Given the description of an element on the screen output the (x, y) to click on. 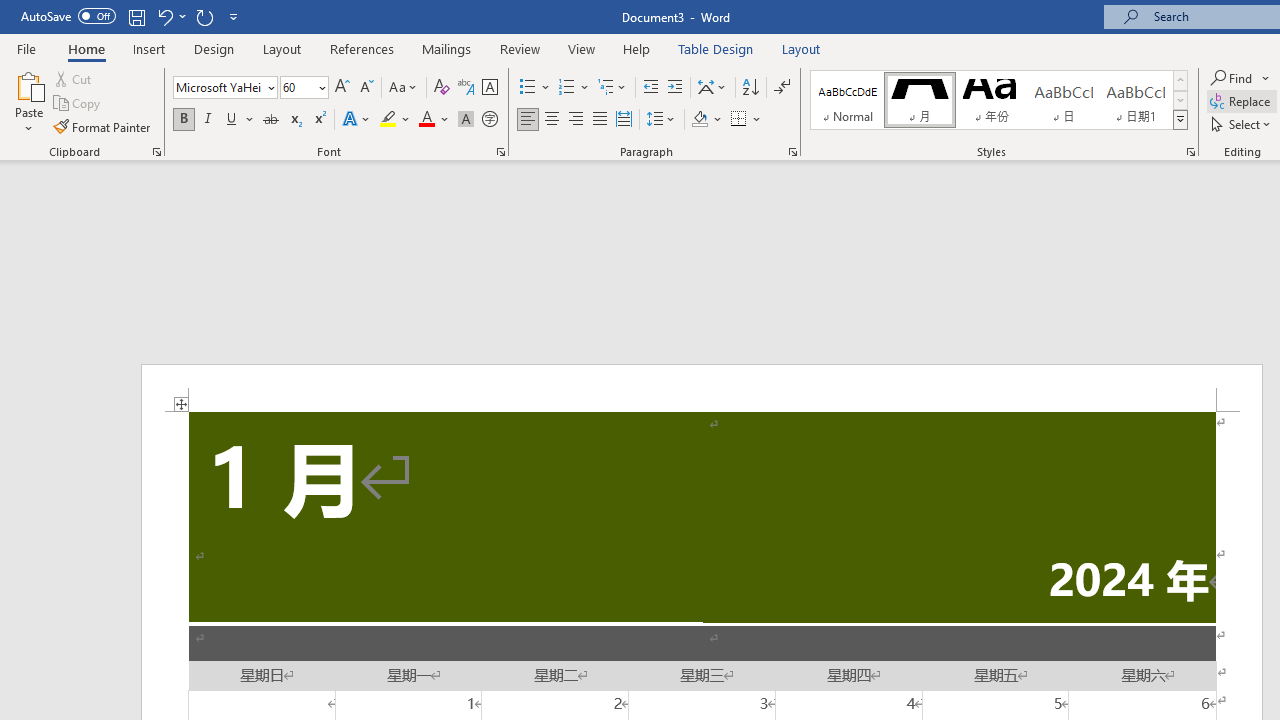
Multilevel List (613, 87)
AutoSave (68, 16)
Borders (746, 119)
Header -Section 1- (701, 387)
Class: NetUIImage (1181, 119)
Enclose Characters... (489, 119)
Numbering (566, 87)
Align Left (527, 119)
View (582, 48)
Row Down (1179, 100)
Subscript (294, 119)
Sort... (750, 87)
Italic (207, 119)
